Given the description of an element on the screen output the (x, y) to click on. 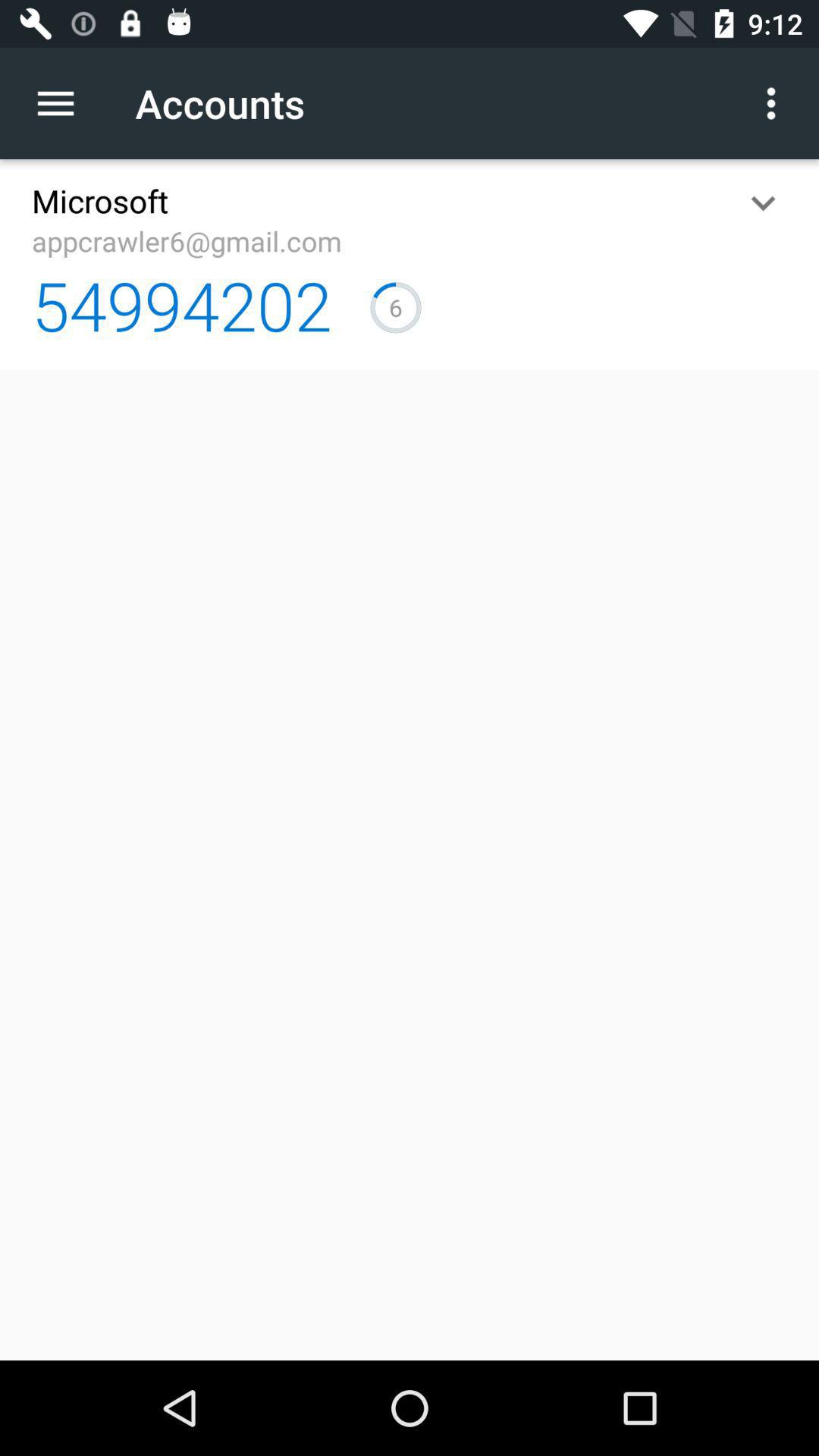
jump to the 54994202 app (181, 304)
